Given the description of an element on the screen output the (x, y) to click on. 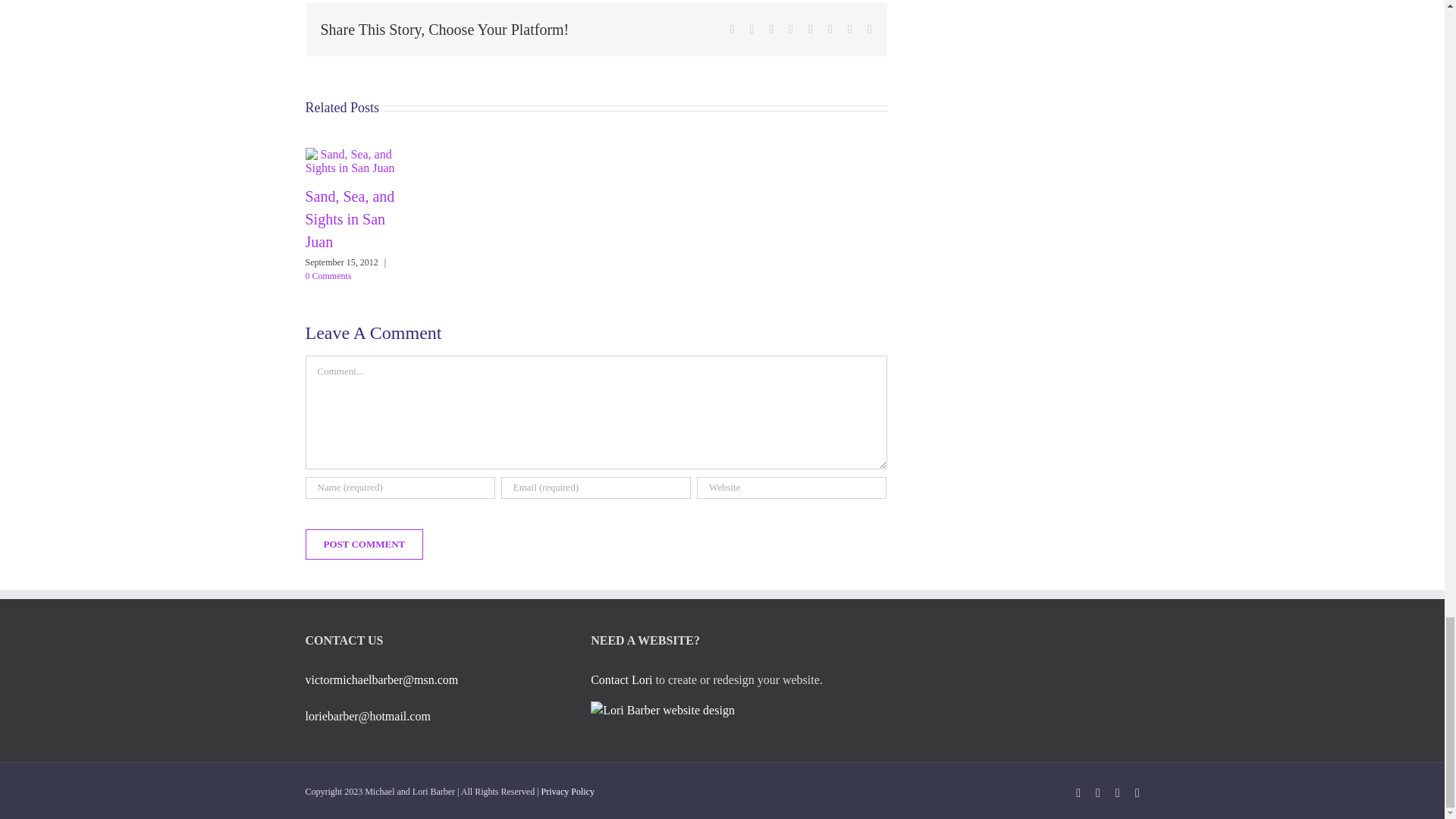
Post Comment (363, 544)
0 Comments (327, 276)
Sand, Sea, and Sights in San Juan (349, 219)
Sand, Sea, and Sights in San Juan (349, 219)
Post Comment (363, 544)
